Given the description of an element on the screen output the (x, y) to click on. 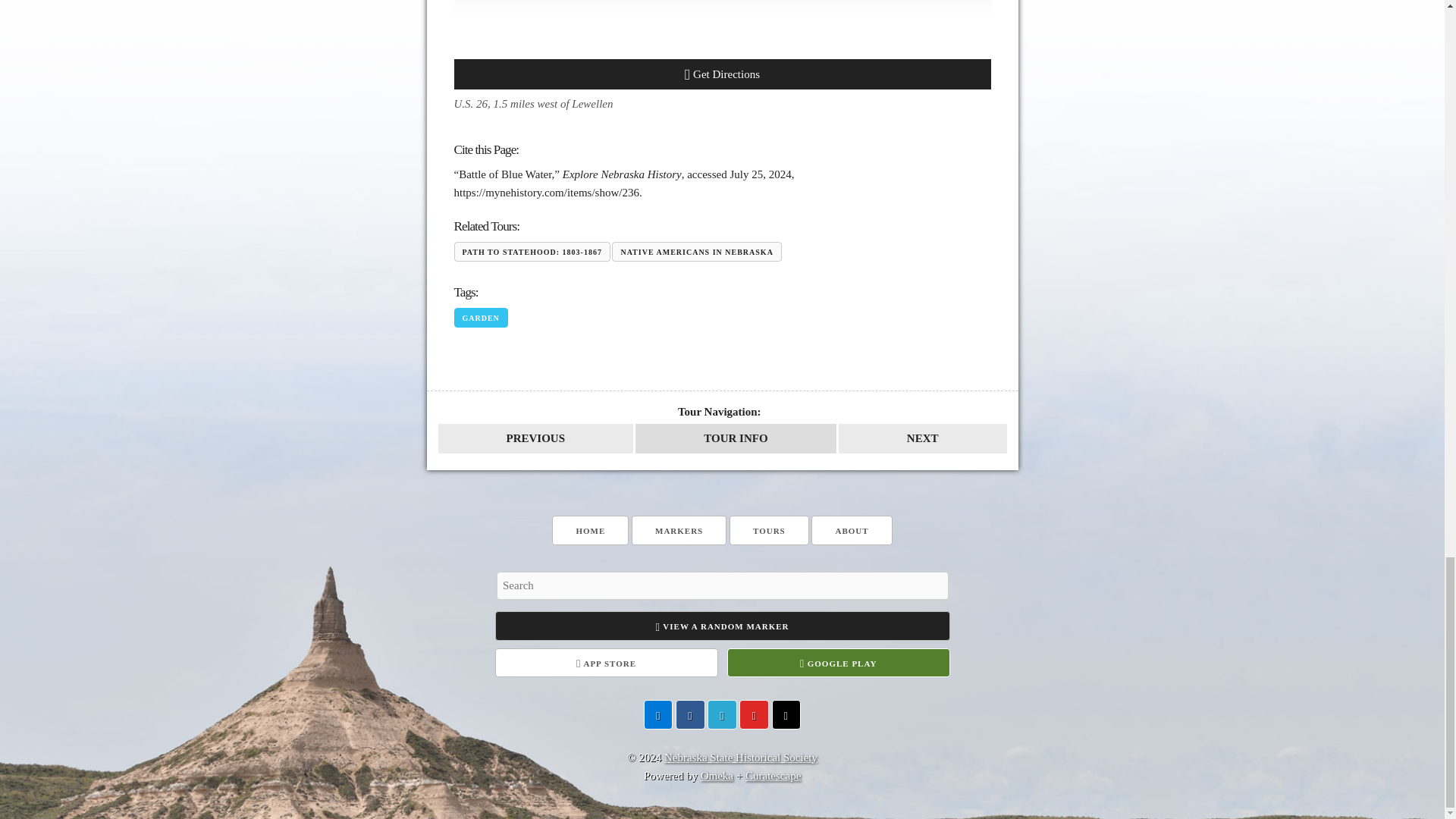
TOUR INFO (734, 438)
VIEW A RANDOM MARKER (722, 625)
ABOUT (850, 530)
NEXT (922, 438)
HOME (589, 530)
MARKERS (678, 530)
NATIVE AMERICANS IN NEBRASKA (695, 251)
Email (657, 714)
Next stop on Tour (922, 438)
Facebook (689, 714)
GOOGLE PLAY (837, 663)
Get Directions on Google Maps (721, 73)
APP STORE (606, 663)
PATH TO STATEHOOD: 1803-1867 (531, 251)
PREVIOUS (535, 438)
